Given the description of an element on the screen output the (x, y) to click on. 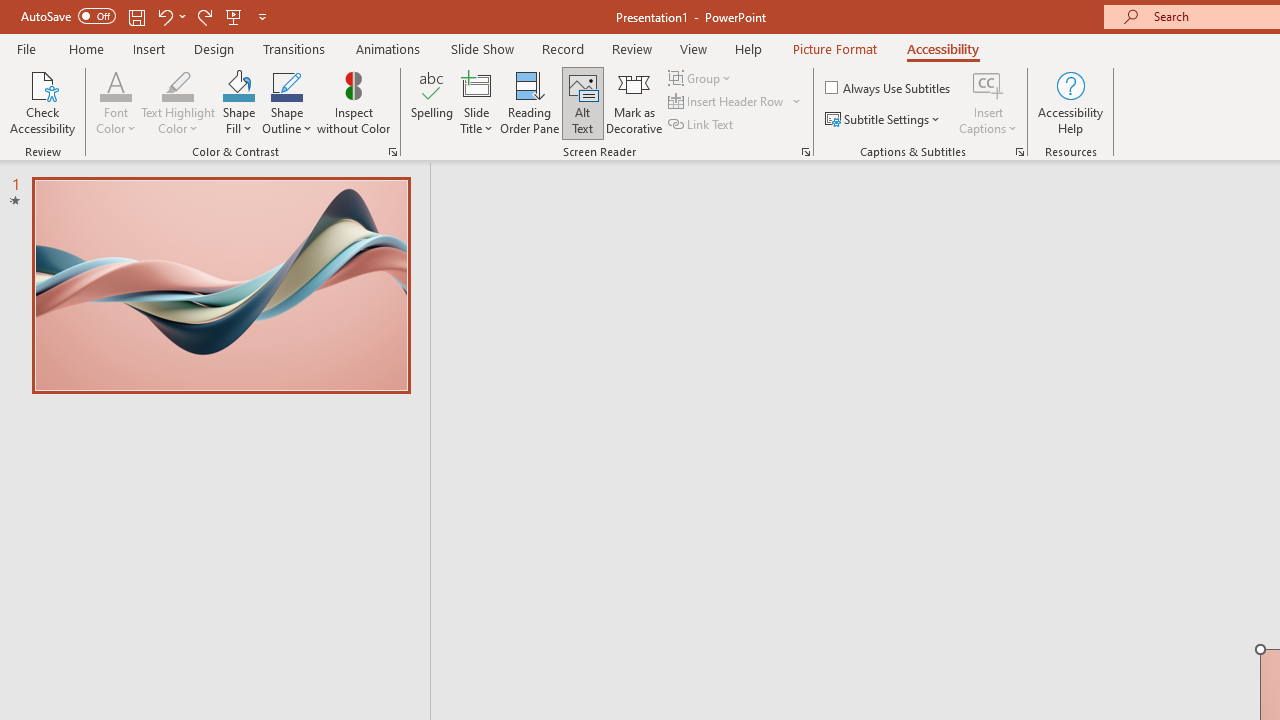
Accessibility Help (1070, 102)
Screen Reader (805, 151)
Color & Contrast (392, 151)
